Given the description of an element on the screen output the (x, y) to click on. 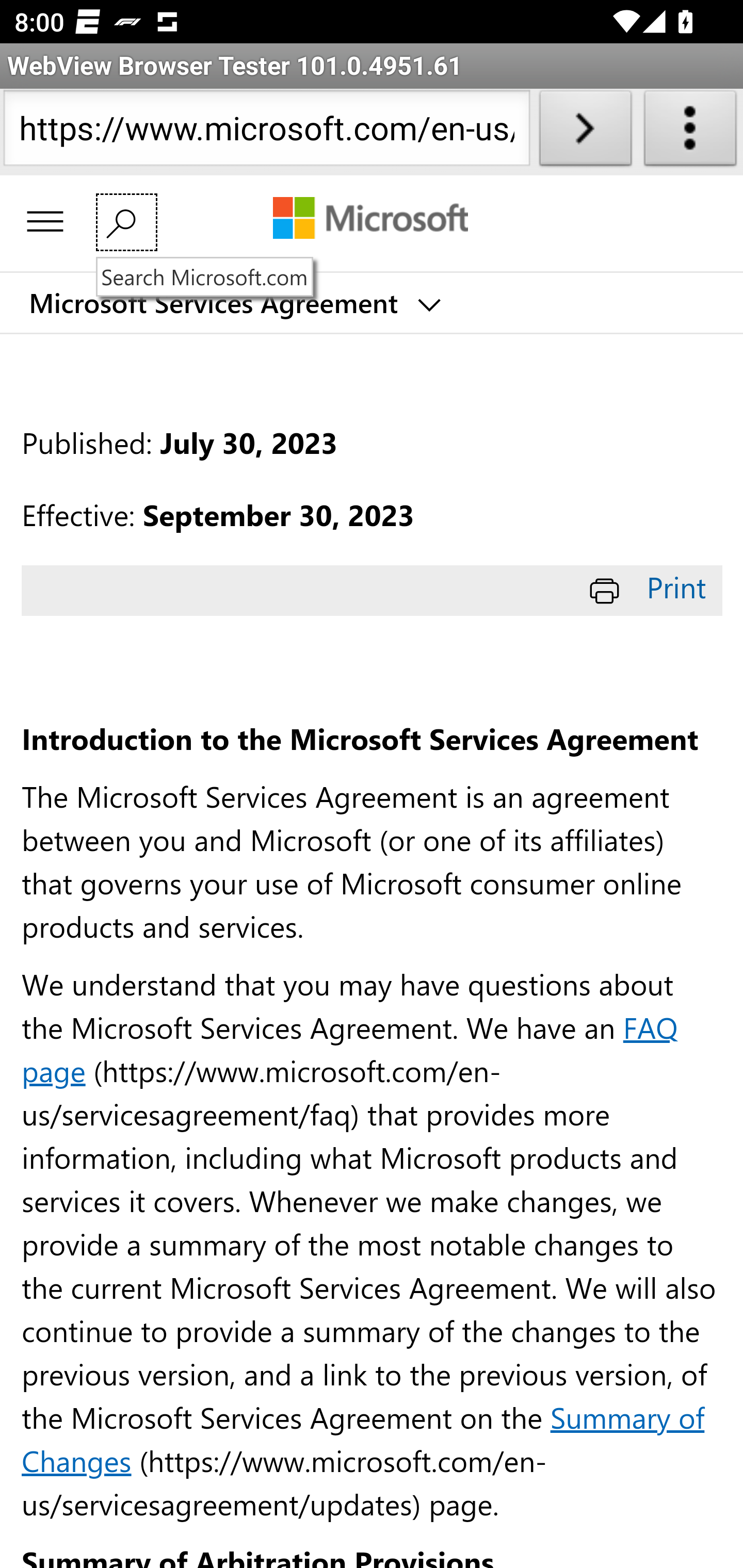
https://www.microsoft.com/en-us/servicesagreement (266, 132)
Load URL (585, 132)
About WebView (690, 132)
Microsoft (370, 219)
Search Microsoft.com (126, 221)
Microsoft Services Agreement (233, 302)
Print (651, 586)
FAQ page (350, 1047)
Summary of Changes (363, 1438)
